Given the description of an element on the screen output the (x, y) to click on. 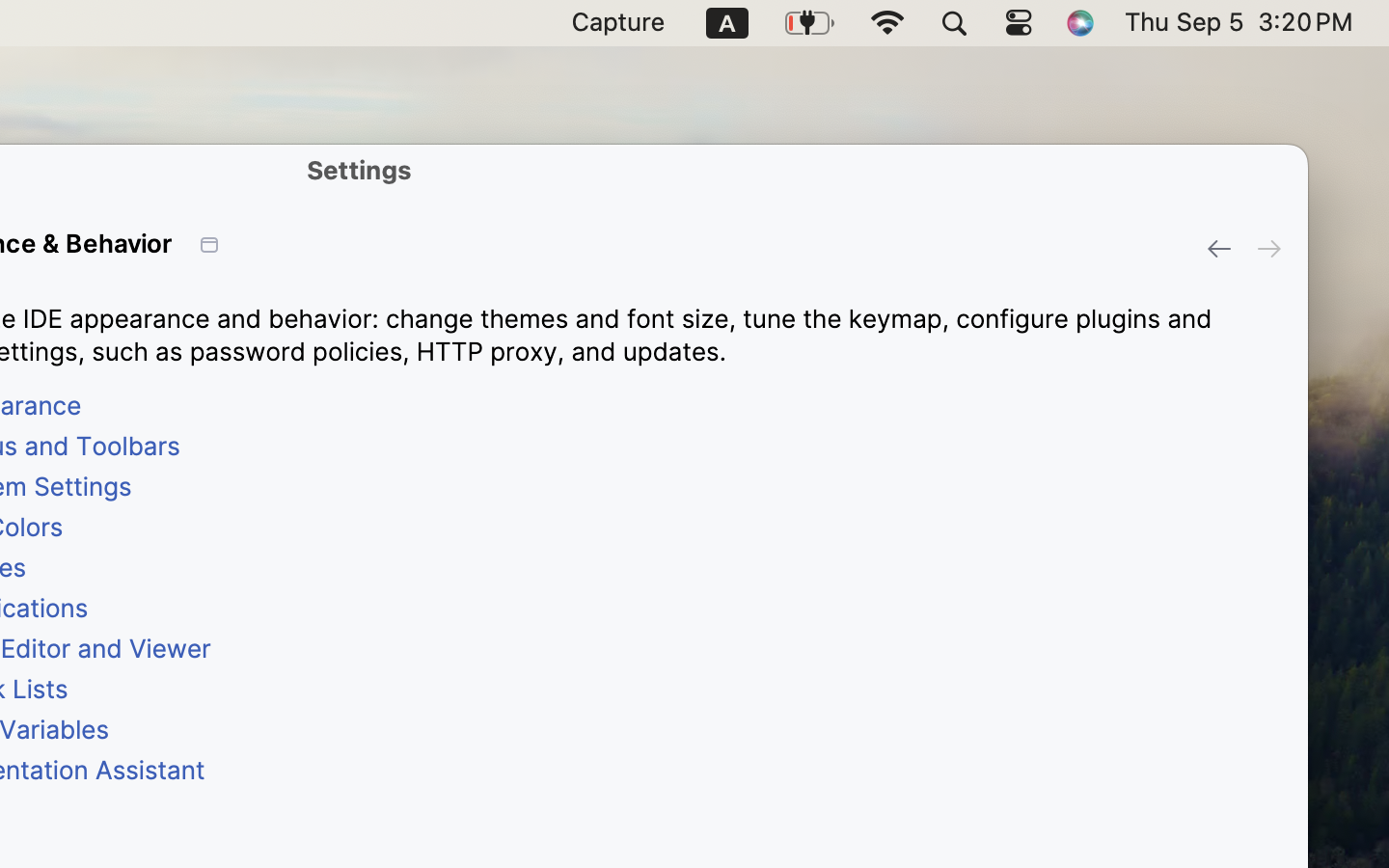
Settings Element type: AXStaticText (359, 169)
